Given the description of an element on the screen output the (x, y) to click on. 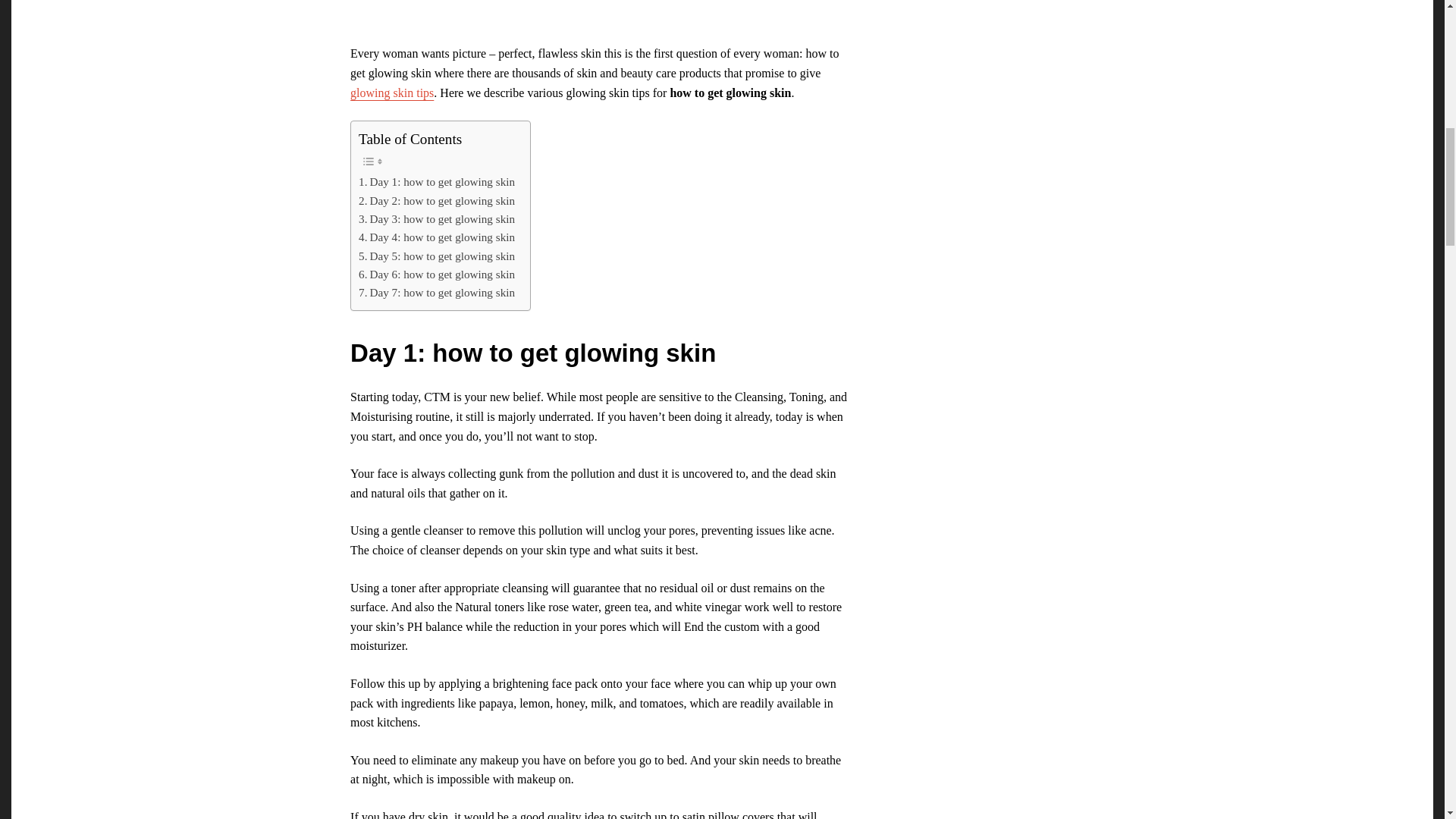
glowing skin tips (391, 92)
Day 4: how to get glowing skin (436, 237)
Day 2: how to get glowing skin (436, 200)
Day 5: how to get glowing skin (436, 256)
Day 6: how to get glowing skin (436, 274)
Day 7: how to get glowing skin (436, 292)
Day 1: how to get glowing skin (436, 181)
Advertisement (600, 18)
Day 6: how to get glowing skin (436, 274)
Day 3: how to get glowing skin (436, 218)
Day 4: how to get glowing skin (436, 237)
Day 7: how to get glowing skin (436, 292)
Day 3: how to get glowing skin (436, 218)
Day 5: how to get glowing skin (436, 256)
Day 1: how to get glowing skin (436, 181)
